Given the description of an element on the screen output the (x, y) to click on. 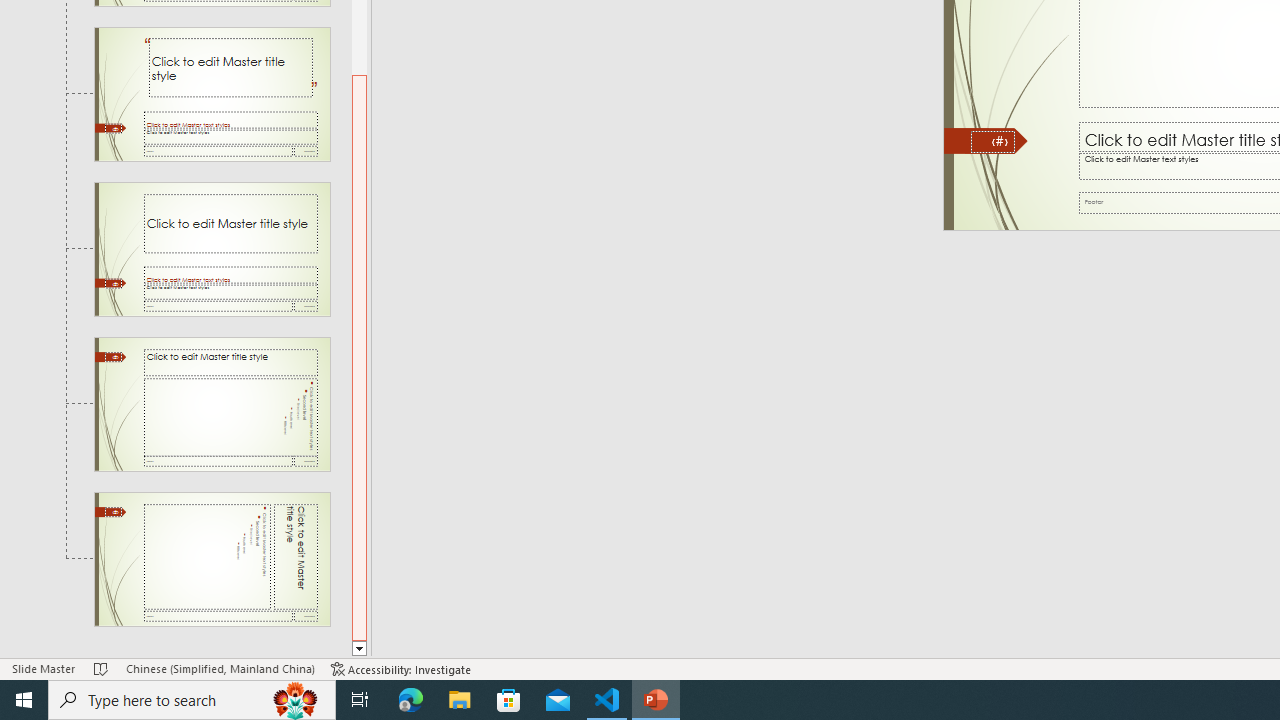
Line down (359, 649)
Slide Quote Name Card Layout: used by no slides (212, 94)
Slide Title and Vertical Text Layout: used by no slides (212, 403)
Freeform 11 (985, 141)
Slide True or False Layout: used by no slides (212, 249)
Slide Number (993, 141)
Slide Vertical Title and Text Layout: used by no slides (212, 559)
